Given the description of an element on the screen output the (x, y) to click on. 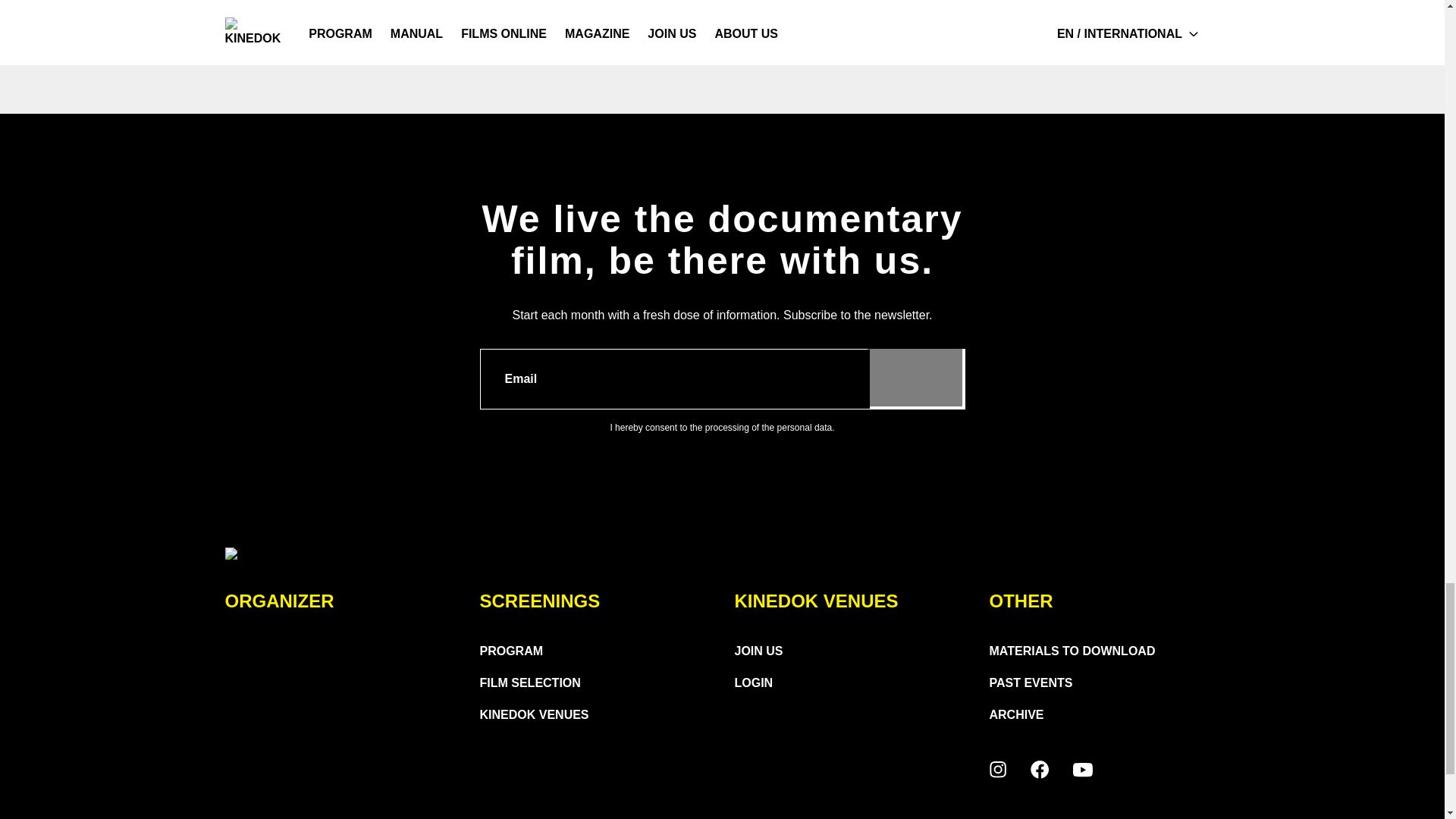
SUBSCRIBE (913, 375)
PROGRAM (511, 651)
ALL FILMS BY TOPIC FREEDOM? (1129, 43)
